Given the description of an element on the screen output the (x, y) to click on. 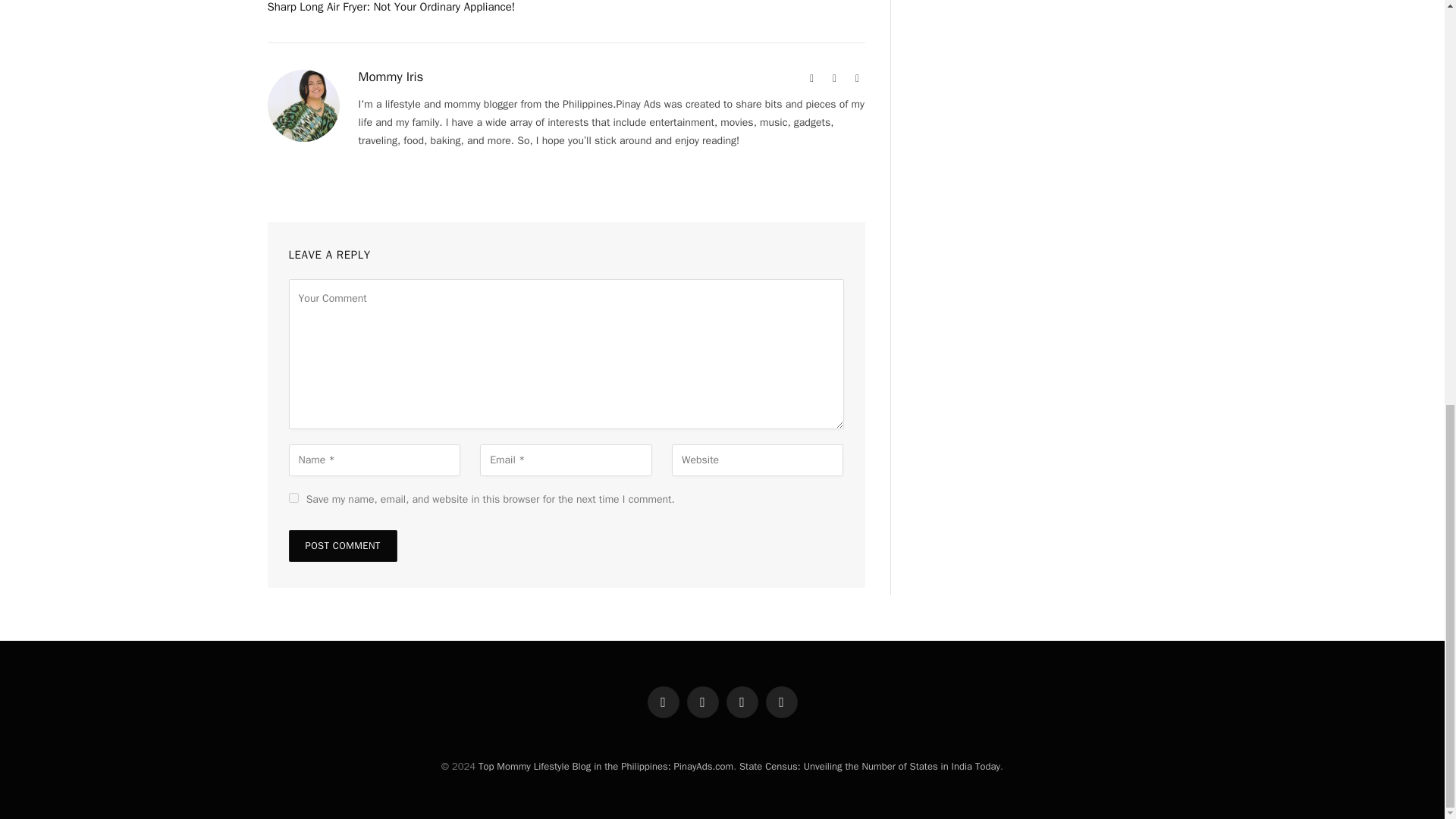
yes (293, 497)
Post Comment (342, 545)
